Given the description of an element on the screen output the (x, y) to click on. 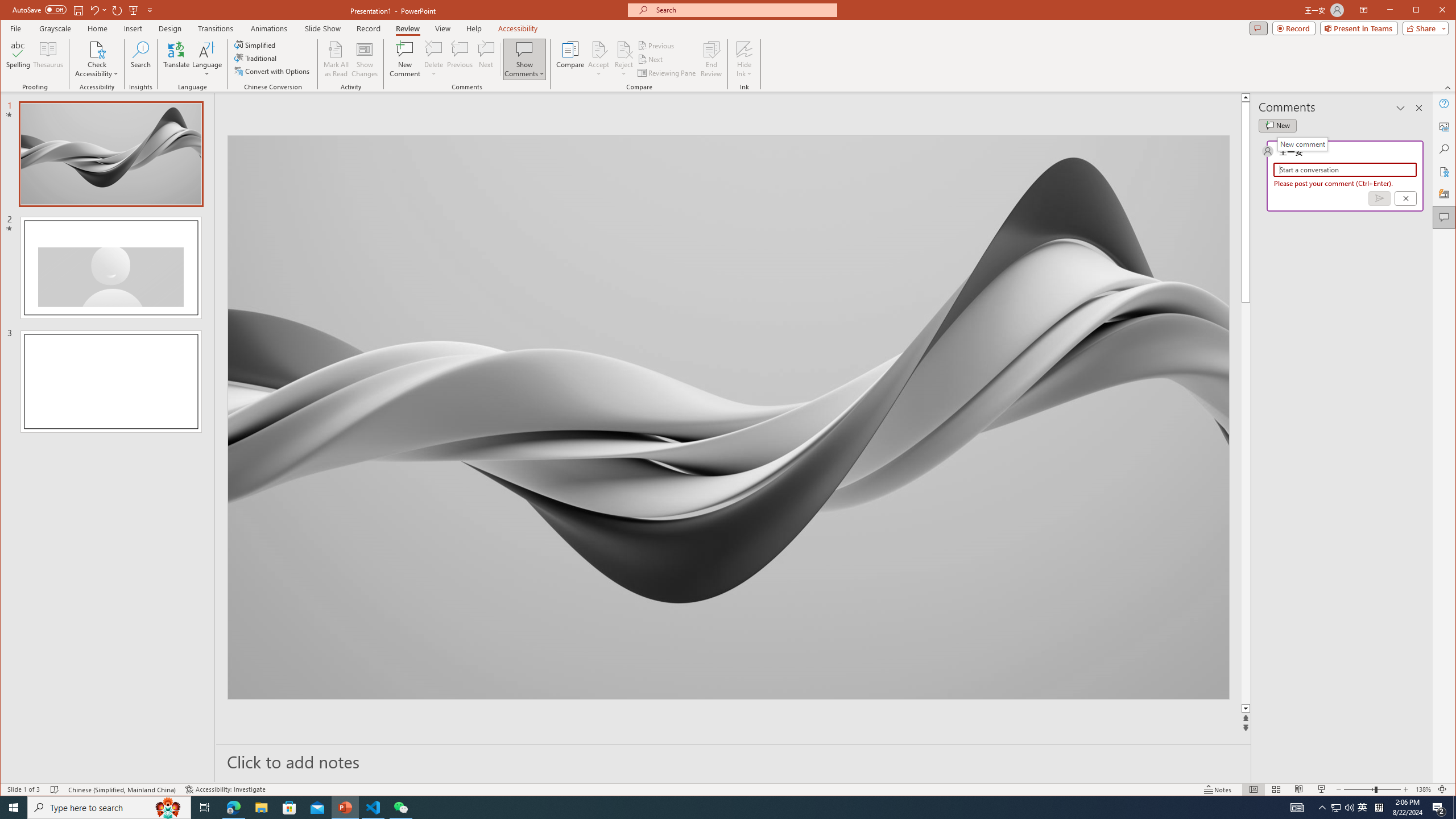
Reject (623, 59)
Accessibility Checker Accessibility: Investigate (225, 789)
File Tab (15, 27)
System (10, 10)
Start (13, 807)
Help (1444, 102)
Alt Text (1444, 125)
Reject Change (623, 48)
Compare (569, 59)
Class: MsoCommandBar (728, 789)
Transitions (215, 28)
Record (368, 28)
Designer (1444, 194)
Close pane (1418, 107)
